Given the description of an element on the screen output the (x, y) to click on. 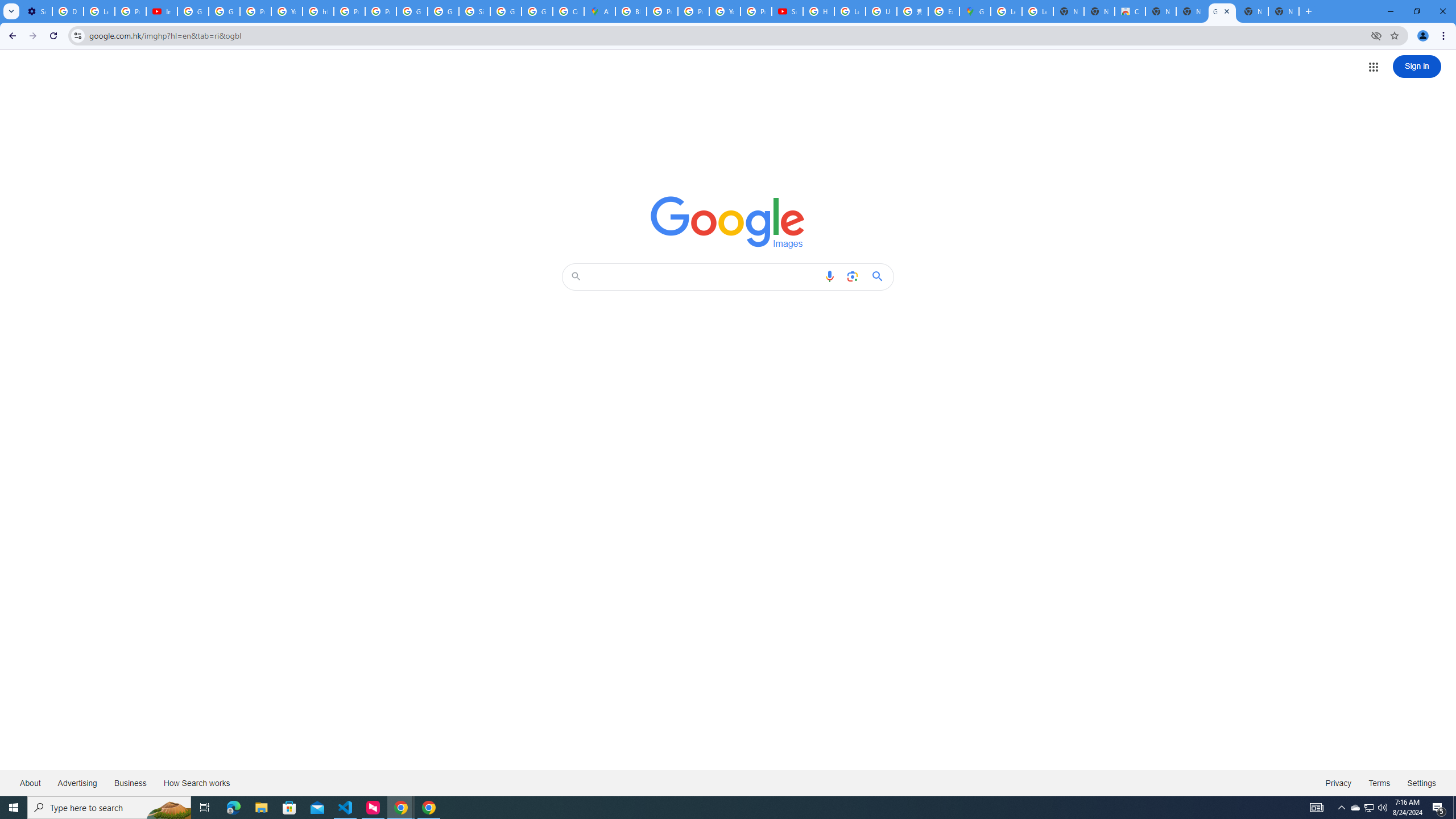
Privacy Help Center - Policies Help (349, 11)
New Tab (1283, 11)
YouTube (286, 11)
Chrome Web Store (1129, 11)
Privacy Help Center - Policies Help (693, 11)
Google Account Help (192, 11)
Learn how to find your photos - Google Photos Help (98, 11)
Settings - Customize profile (36, 11)
